Given the description of an element on the screen output the (x, y) to click on. 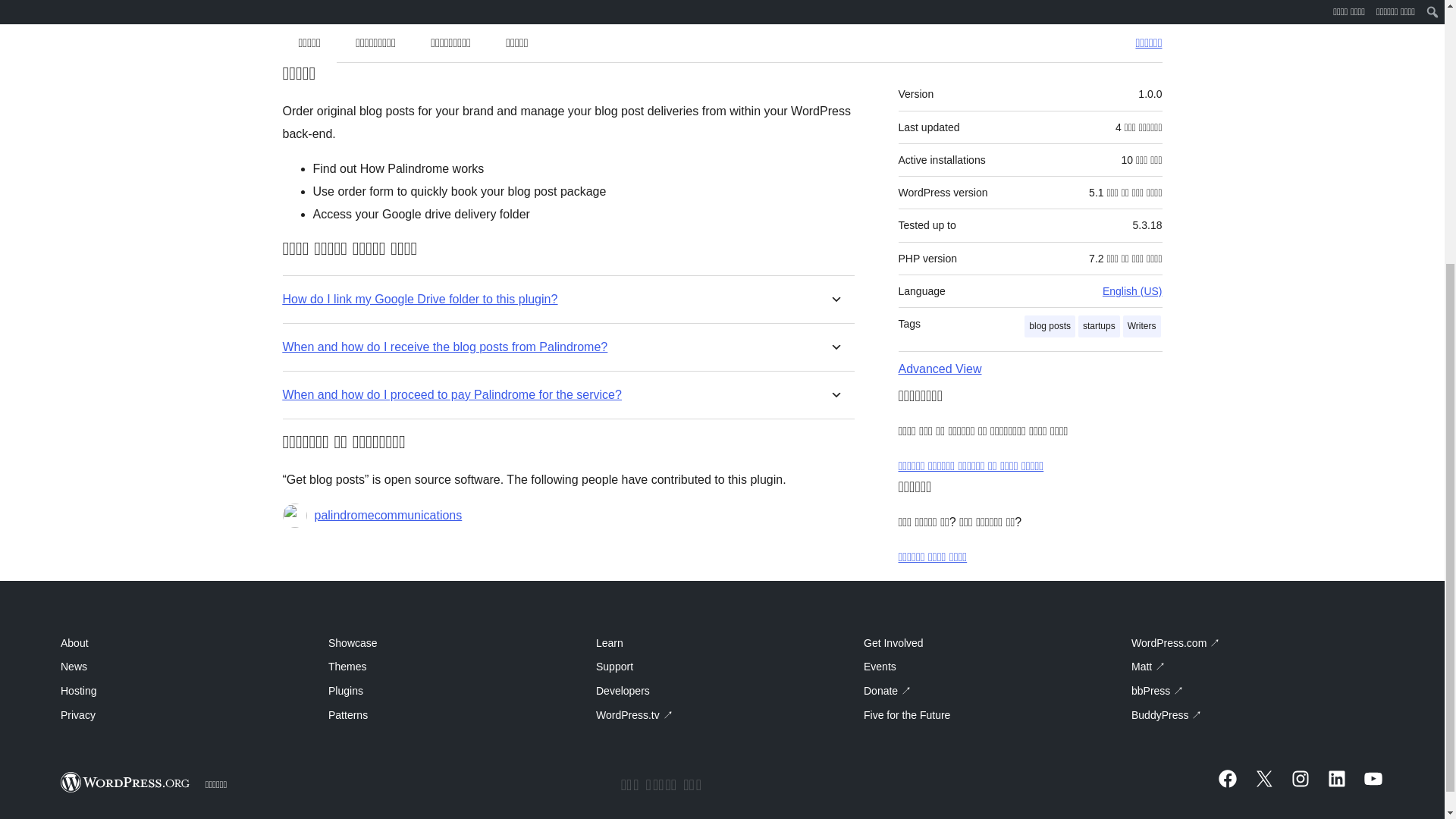
palindromecommunications (387, 515)
WordPress.org (125, 782)
When and how do I proceed to pay Palindrome for the service? (451, 394)
When and how do I receive the blog posts from Palindrome? (444, 346)
How do I link my Google Drive folder to this plugin? (419, 298)
